Given the description of an element on the screen output the (x, y) to click on. 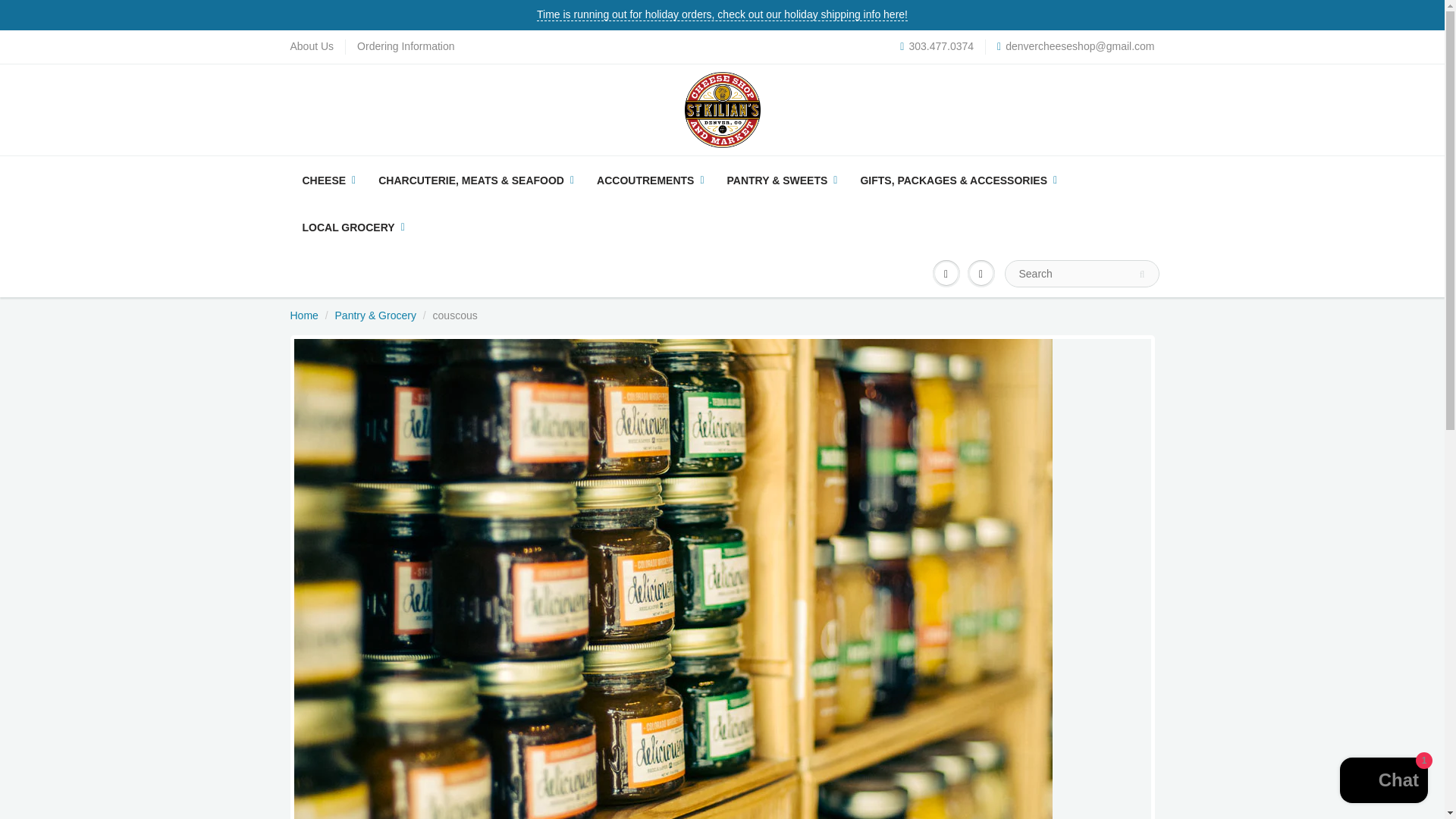
CHEESE (329, 180)
About Us (311, 46)
Ordering Information (405, 46)
Shopify online store chat (1383, 781)
ACCOUTREMENTS (649, 180)
303.477.0374 (936, 46)
Home (303, 315)
